Given the description of an element on the screen output the (x, y) to click on. 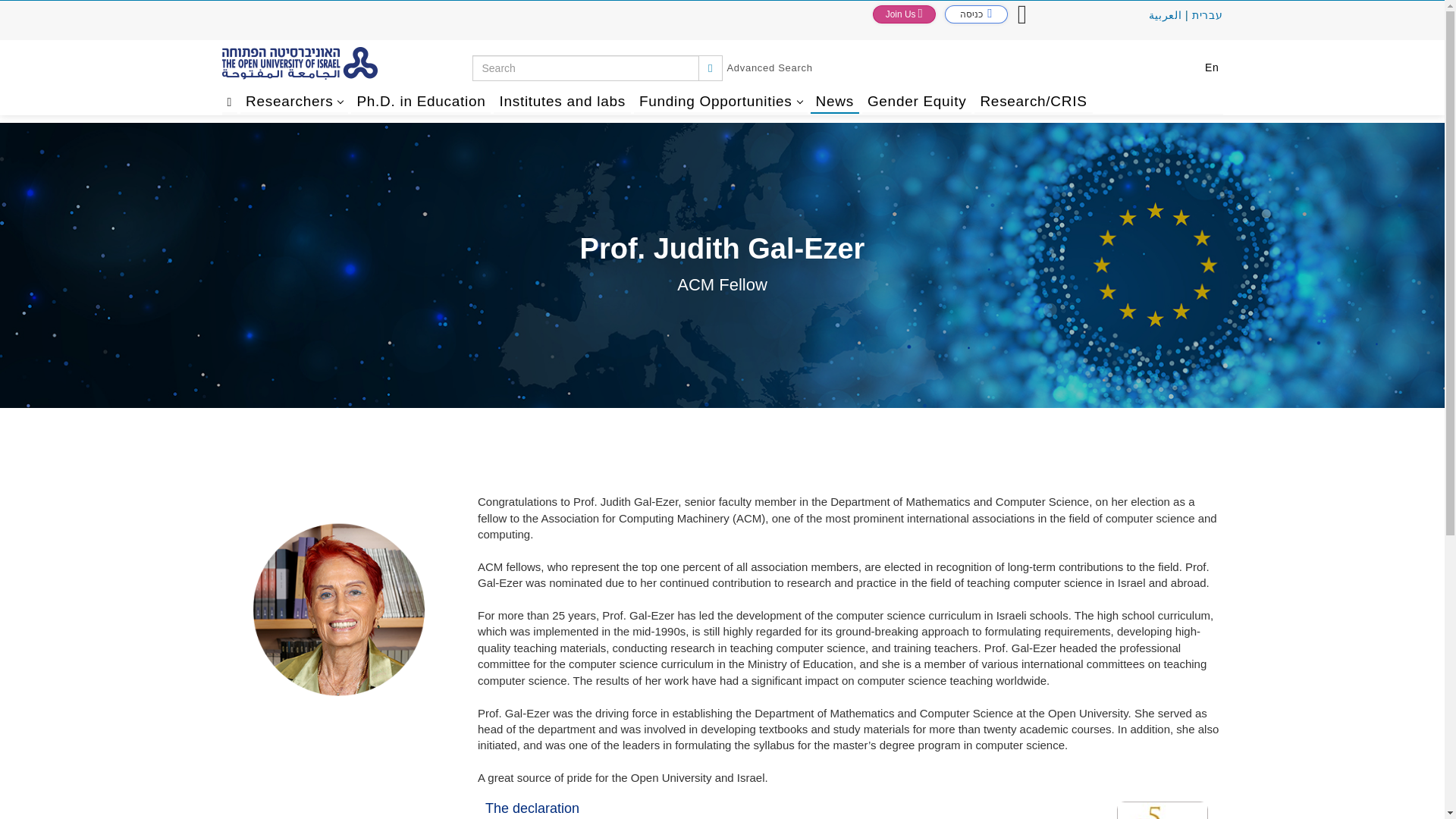
The Open University (346, 63)
Researchers (293, 98)
Join Us (904, 13)
Ph.D. in Education (420, 98)
Advanced Search (769, 68)
En (1212, 68)
News (834, 98)
Funding Opportunities (720, 98)
Open University website in Hebrew (1207, 15)
Institutes and labs (561, 98)
Home Page (229, 98)
Open University website in Arabic (1165, 15)
Search Open University site (769, 68)
En (1212, 68)
